Given the description of an element on the screen output the (x, y) to click on. 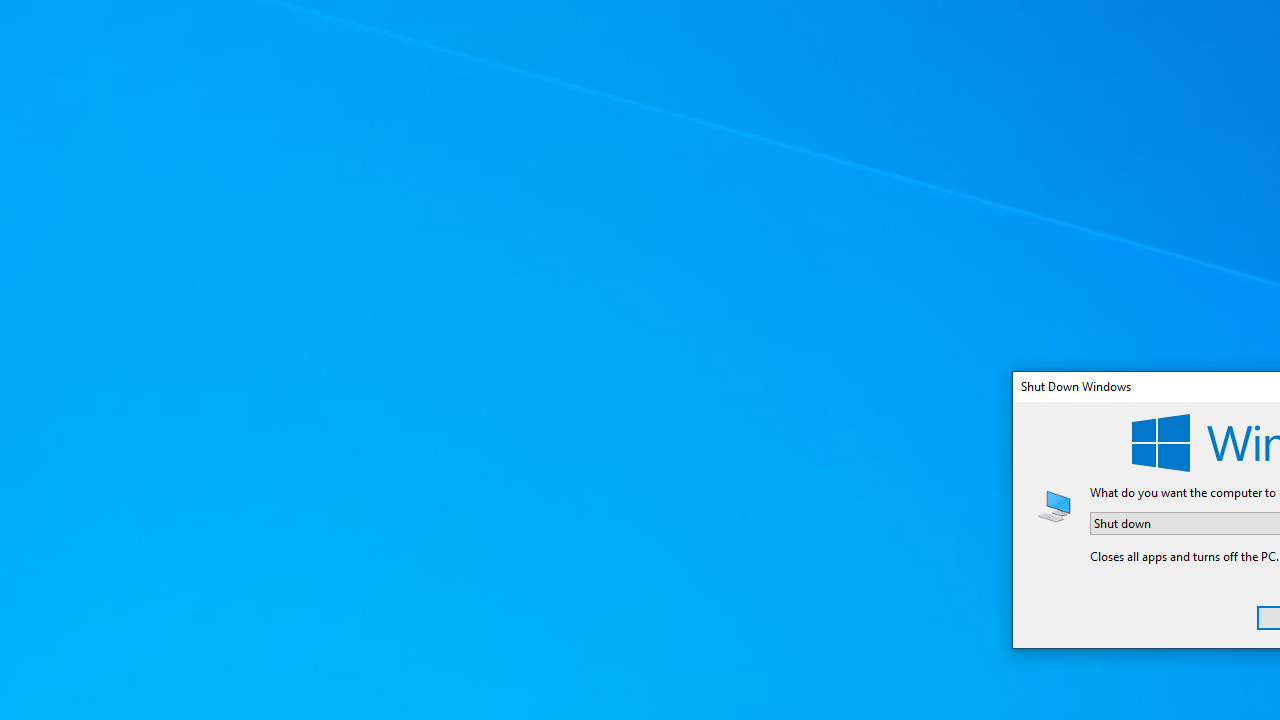
AutomationID: 2027 (1053, 505)
